Given the description of an element on the screen output the (x, y) to click on. 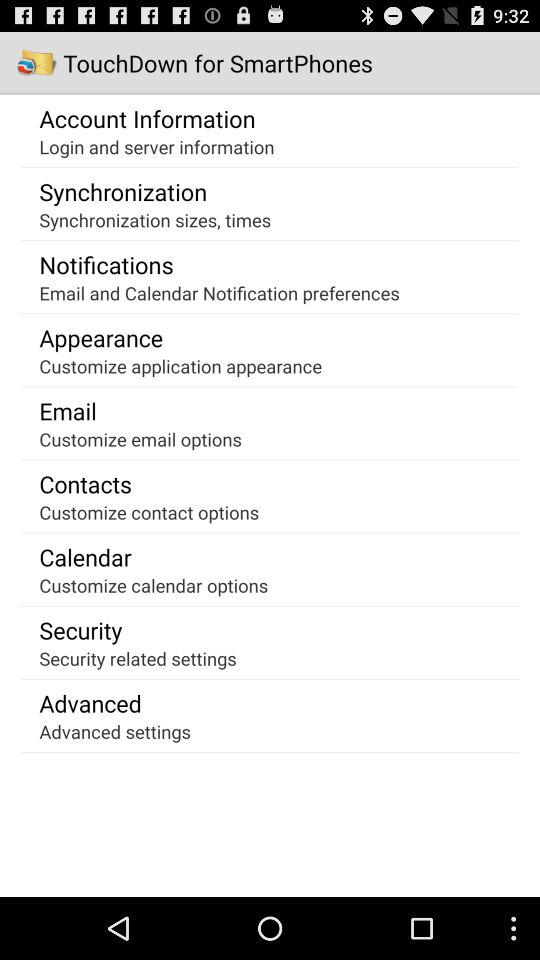
turn on app below security app (137, 658)
